Given the description of an element on the screen output the (x, y) to click on. 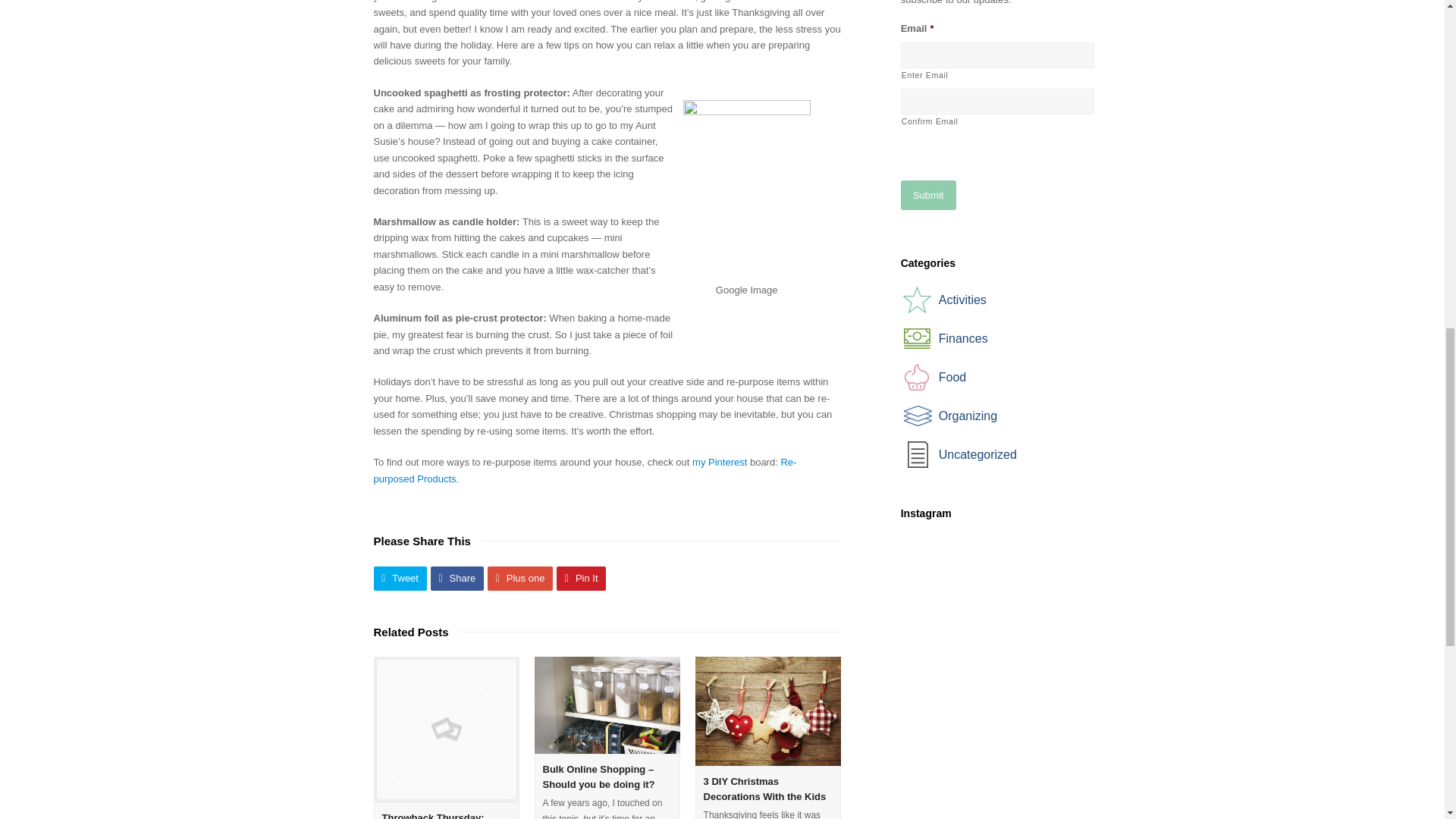
3 DIY Christmas Decorations With the Kids (765, 788)
3 DIY Christmas Decorations With the Kids (765, 788)
Throwback Thursday: Preparing for School (445, 729)
Share on Twitter (399, 578)
Throwback Thursday: Preparing for School (432, 815)
Tweet (399, 578)
Plus one (520, 578)
Share (456, 578)
Throwback Thursday: Preparing for School (432, 815)
3 DIY Christmas Decorations With the Kids (768, 710)
Submit (928, 194)
Re-purposed Products.  (584, 470)
Share on Facebook (456, 578)
Share on Pinterest (580, 578)
my Pinterest (719, 461)
